Given the description of an element on the screen output the (x, y) to click on. 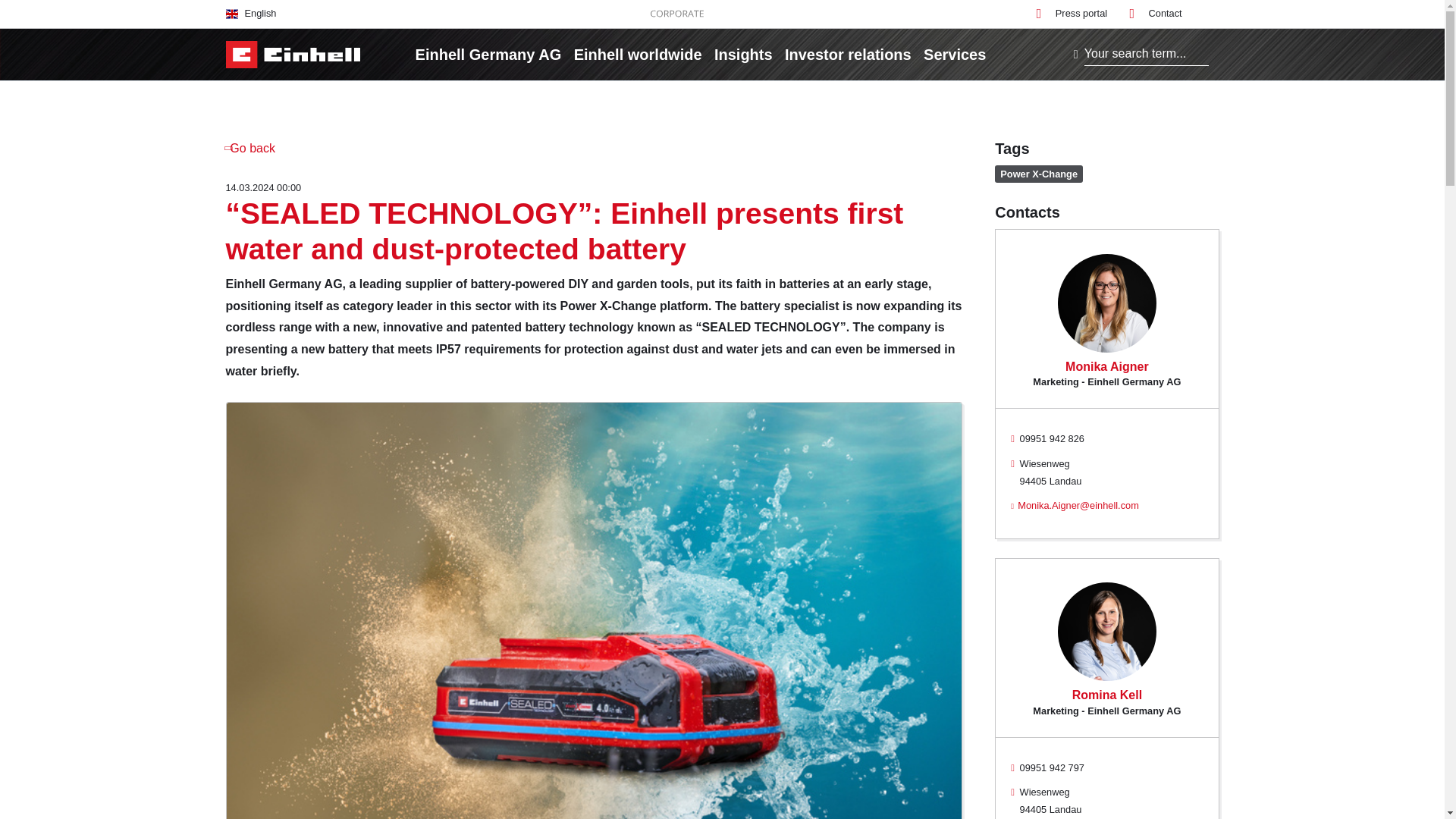
Go back (250, 147)
Investor relations (847, 54)
Insights (743, 54)
Contact (1155, 13)
Einhell Germany AG (488, 54)
Press portal (1071, 13)
Services (954, 54)
Einhell worldwide (637, 54)
